Given the description of an element on the screen output the (x, y) to click on. 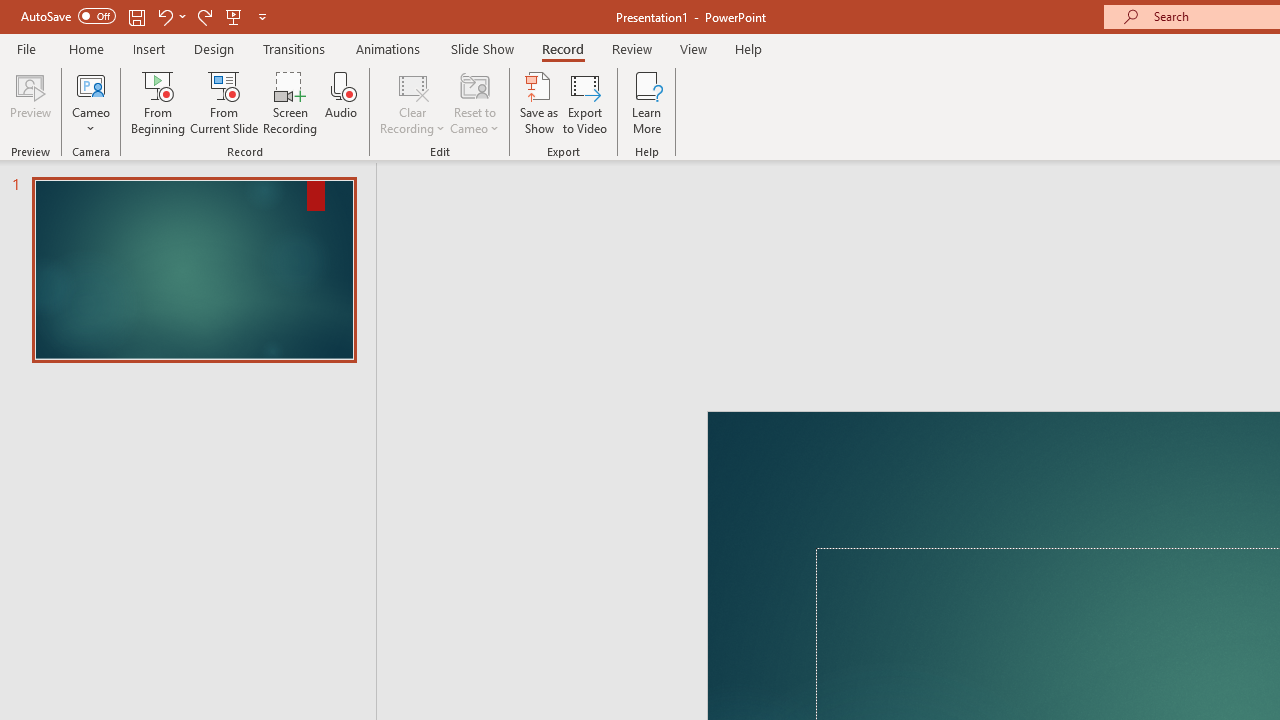
Screen Recording (290, 102)
Reset to Cameo (474, 102)
Save as Show (539, 102)
